Given the description of an element on the screen output the (x, y) to click on. 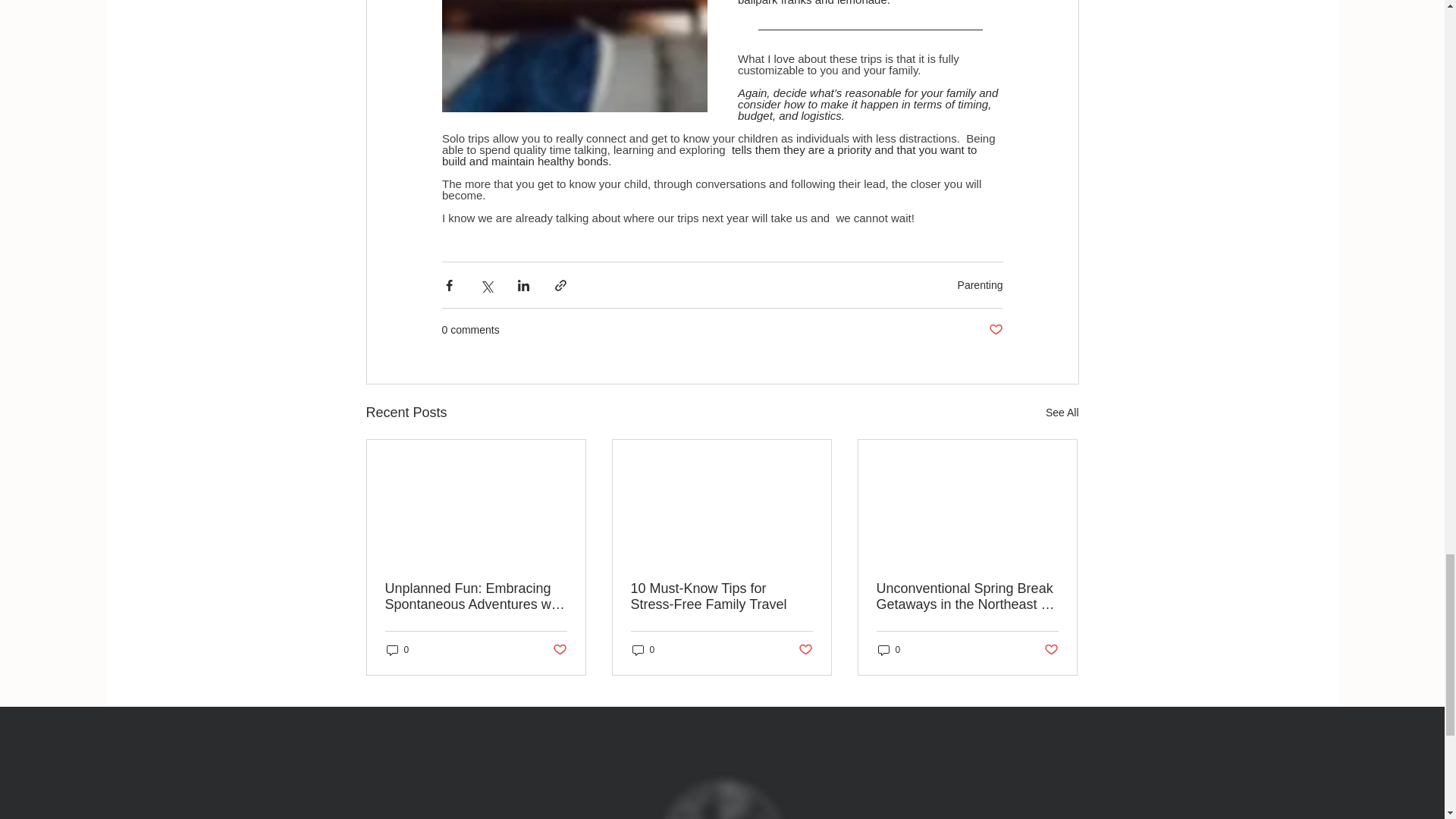
10 Must-Know Tips for Stress-Free Family Travel (721, 596)
Post not marked as liked (995, 330)
wt-logos-final-02.png (721, 789)
Post not marked as liked (558, 650)
0 (397, 649)
Parenting (980, 285)
Post not marked as liked (804, 650)
See All (1061, 413)
0 (643, 649)
